Given the description of an element on the screen output the (x, y) to click on. 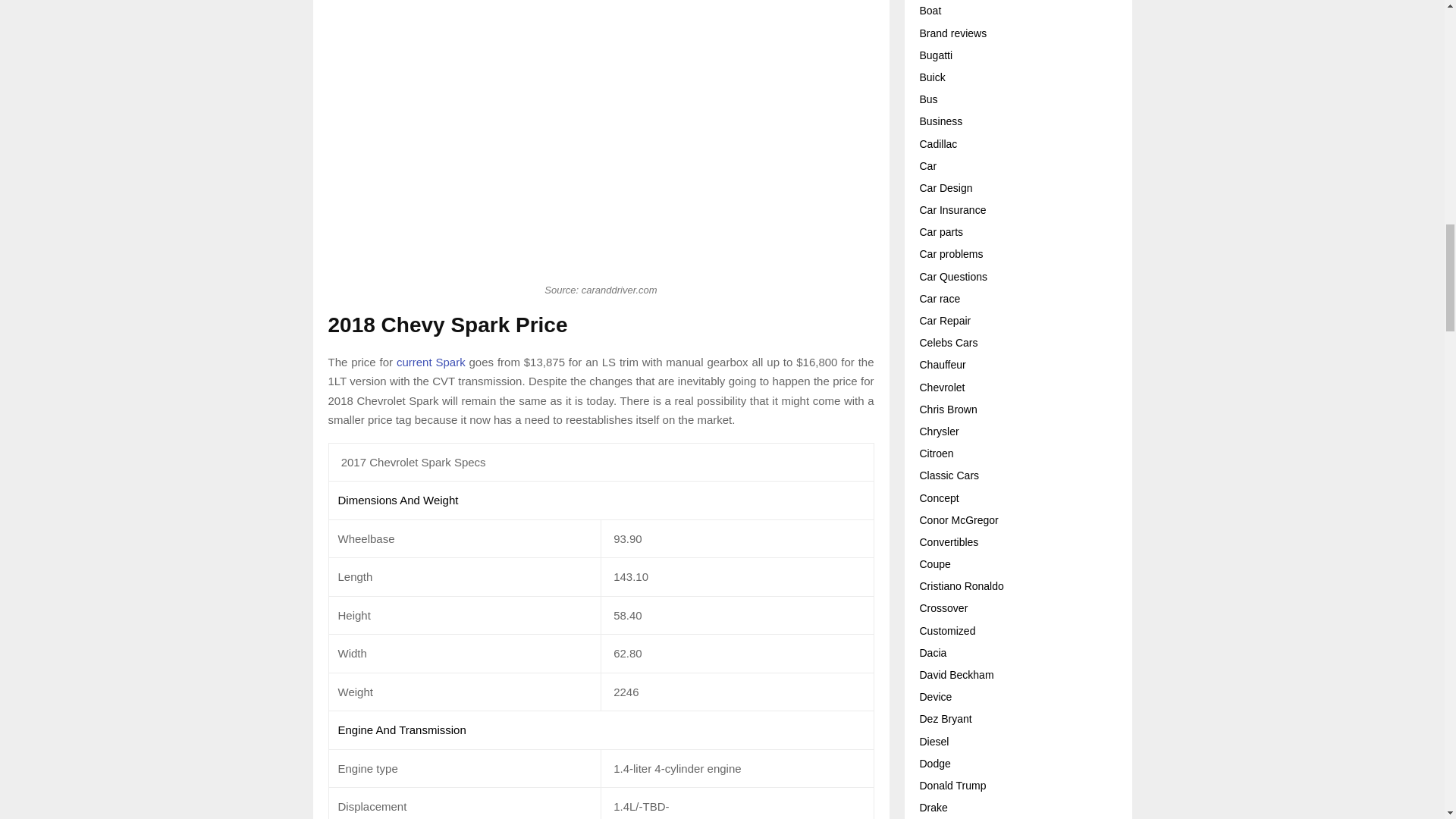
current Spark (430, 361)
